Given the description of an element on the screen output the (x, y) to click on. 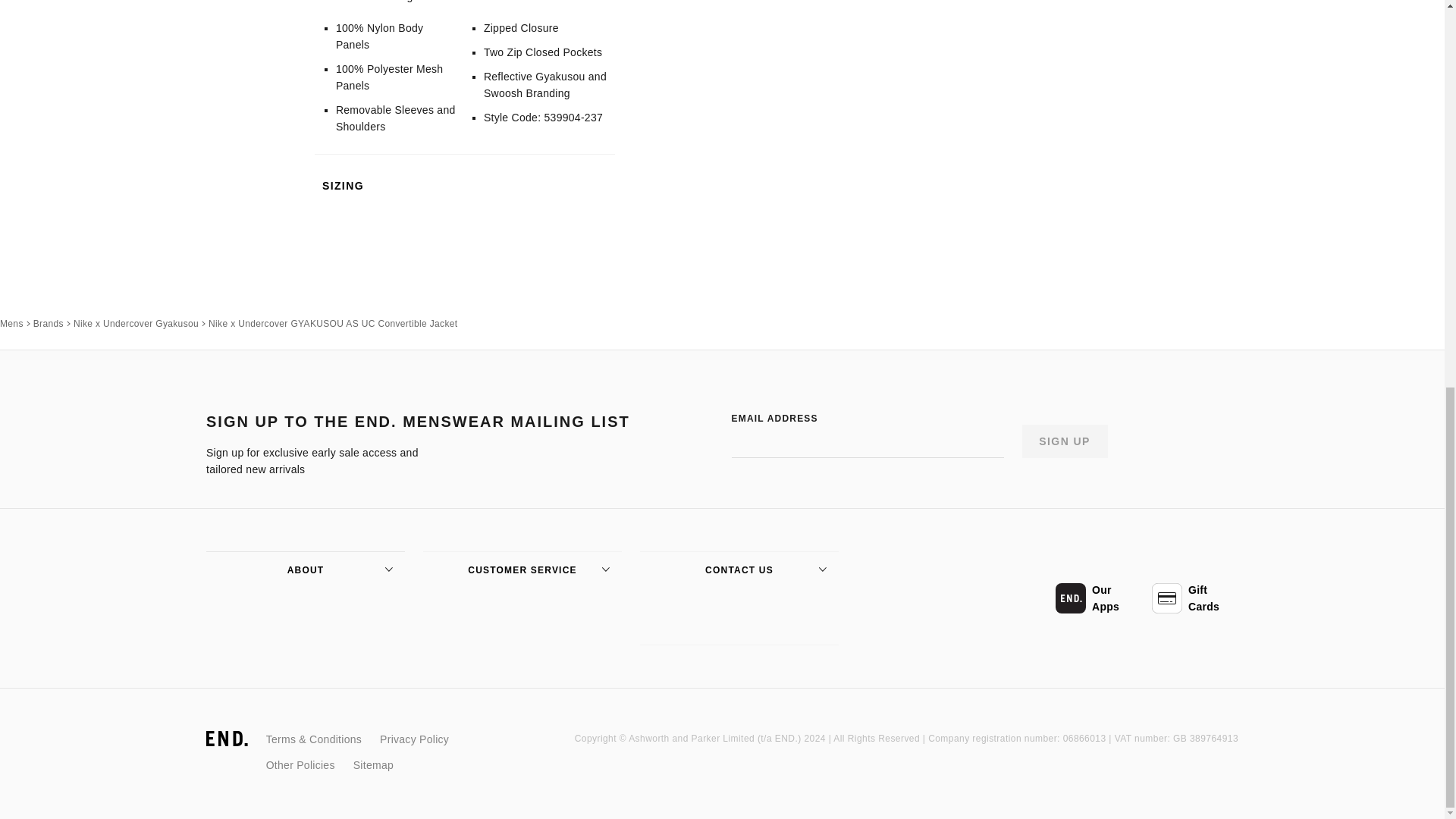
Our Apps (1097, 598)
Nike x Undercover Gyakusou (136, 323)
Gift Cards (1195, 598)
Other Policies (300, 764)
Sitemap (373, 764)
Nike x Undercover GYAKUSOU AS UC Convertible Jacket (332, 323)
SIGN UP (1065, 441)
Privacy Policy (414, 739)
Brands (48, 323)
Mens (11, 323)
